Given the description of an element on the screen output the (x, y) to click on. 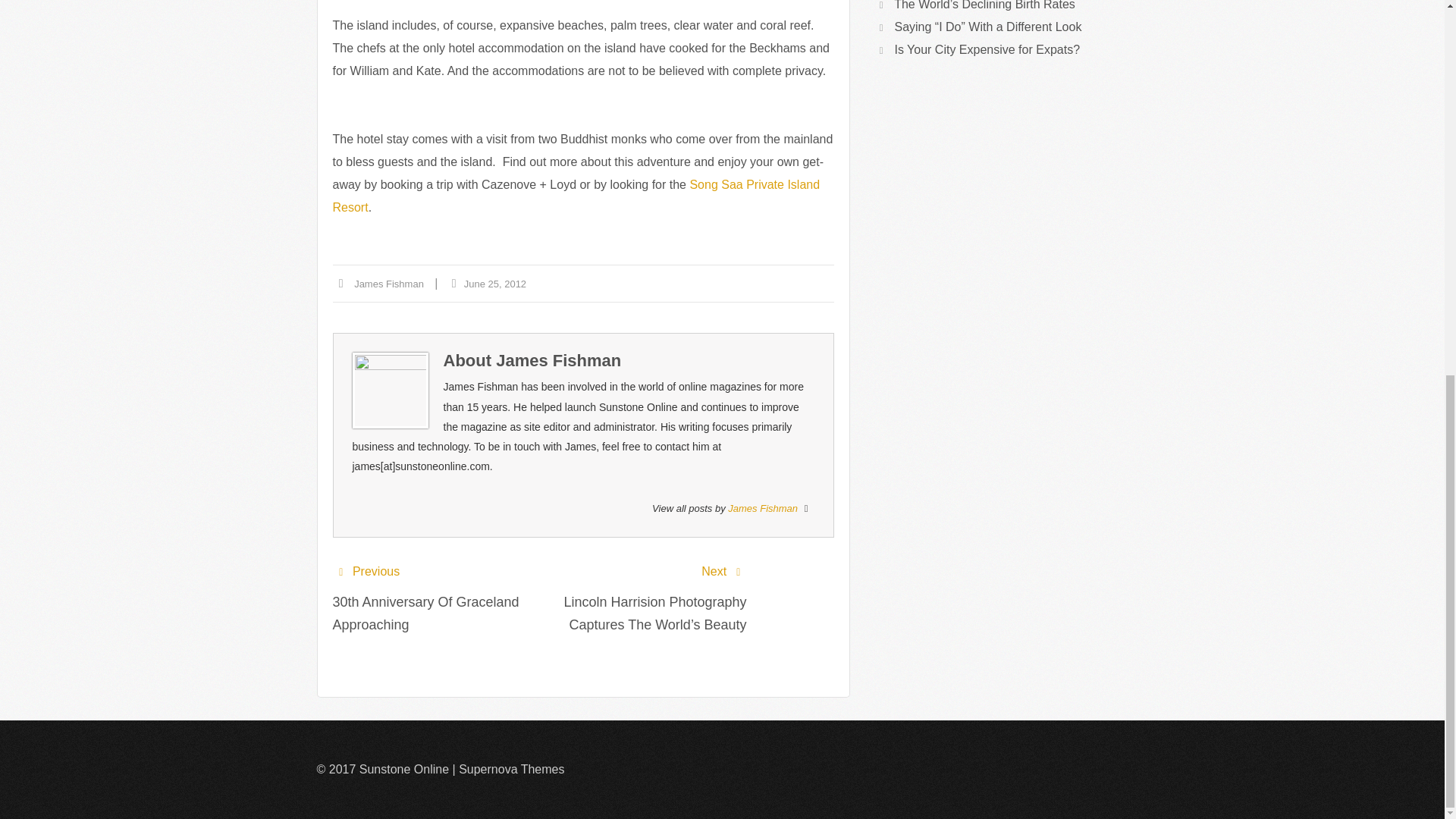
Posts by James Fishman (558, 360)
Posts by James Fishman (762, 508)
